Given the description of an element on the screen output the (x, y) to click on. 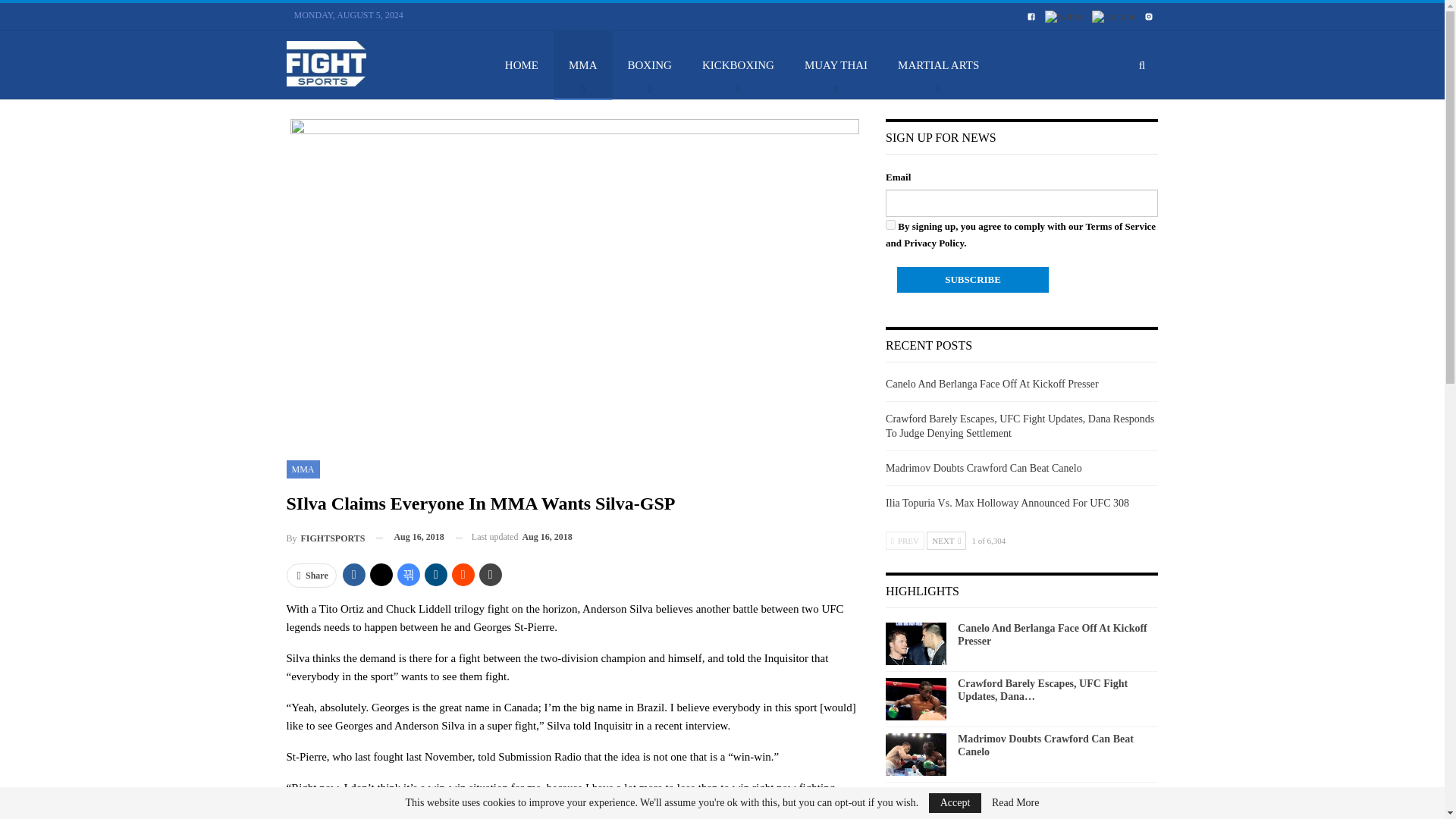
HOME (521, 65)
facebook (1030, 16)
youtube (1113, 15)
on (890, 225)
instagram (1148, 15)
instagram (1148, 16)
facebook (1031, 15)
youtube (1113, 16)
Subscribe (972, 279)
twitter (1064, 16)
twitter (1064, 15)
BOXING (649, 65)
KICKBOXING (738, 65)
